Given the description of an element on the screen output the (x, y) to click on. 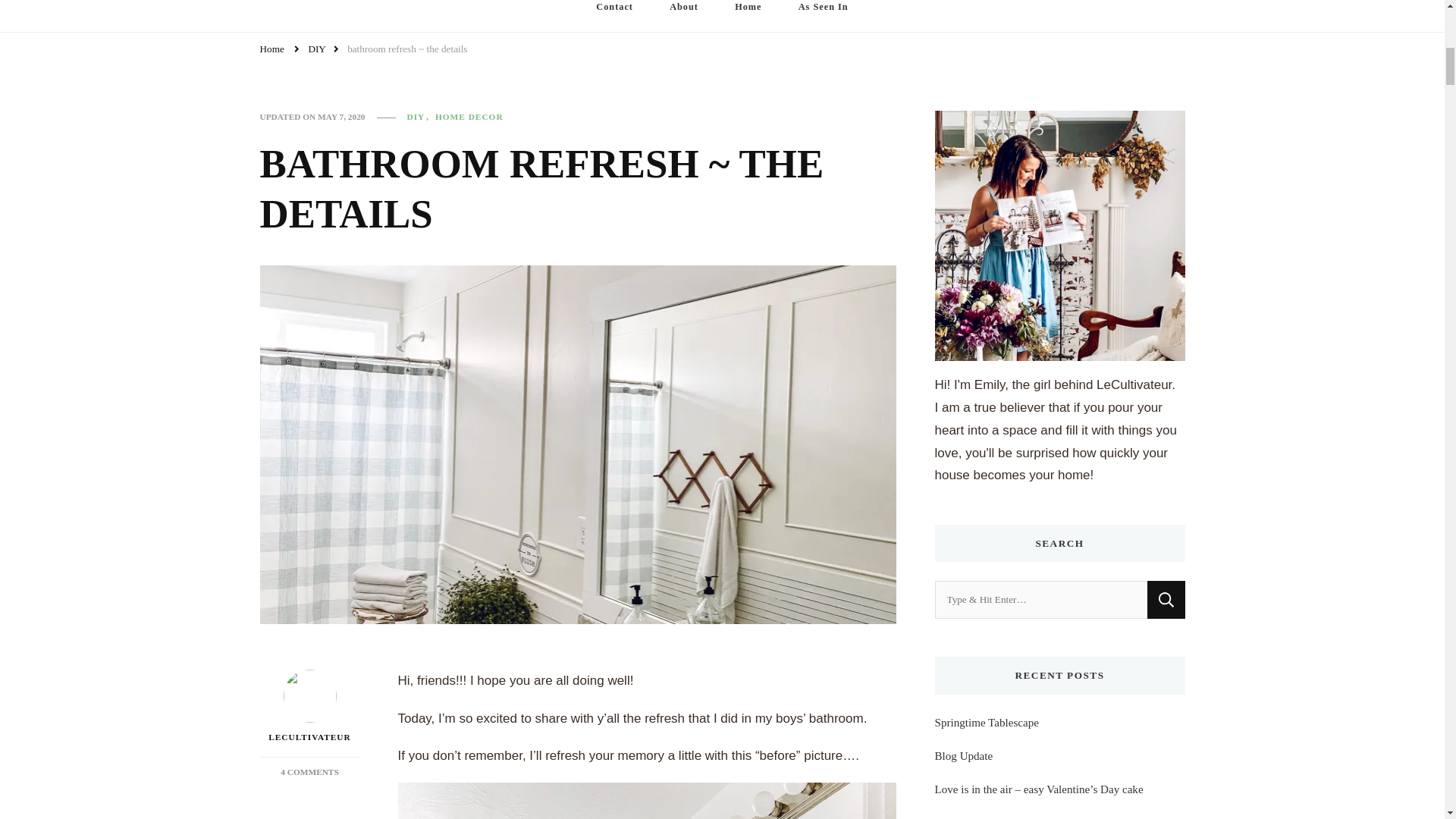
DIY (316, 49)
As Seen In (822, 15)
LECULTIVATEUR (309, 707)
Home (271, 49)
Contact (614, 15)
DIY (419, 116)
About (683, 15)
MAY 7, 2020 (341, 116)
Home (747, 15)
Search (1166, 599)
Search (1166, 599)
HOME DECOR (469, 116)
